Given the description of an element on the screen output the (x, y) to click on. 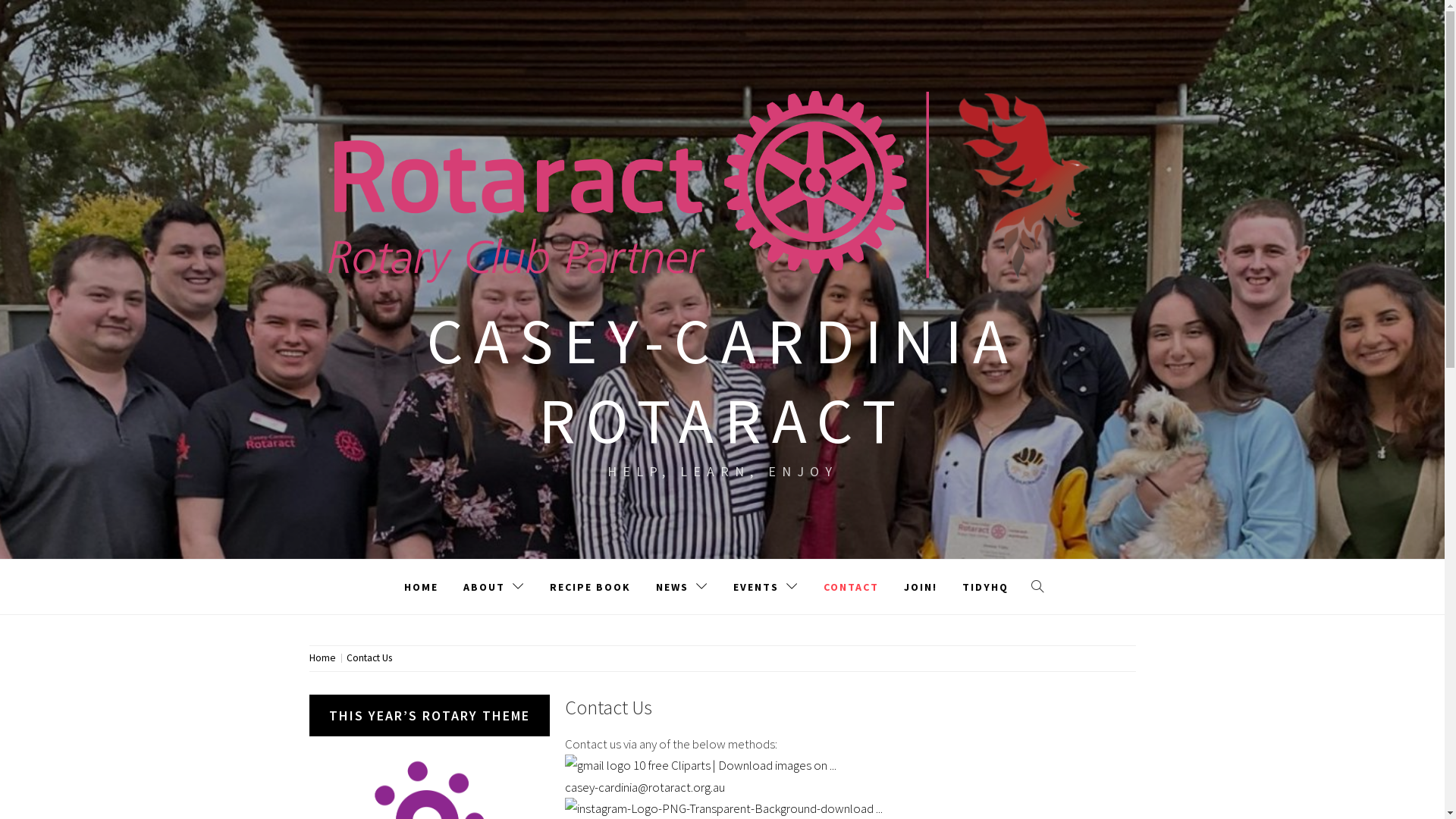
HOME Element type: text (420, 586)
EVENTS Element type: text (765, 586)
NEWS Element type: text (681, 586)
CONTACT Element type: text (850, 586)
Contact Us Element type: text (369, 657)
Home Element type: text (325, 657)
CASEY-CARDINIA ROTARACT Element type: text (721, 380)
casey-cardinia@rotaract.org.au Element type: text (699, 775)
Search Element type: text (645, 37)
RECIPE BOOK Element type: text (590, 586)
JOIN! Element type: text (919, 586)
ABOUT Element type: text (493, 586)
TIDYHQ Element type: text (984, 586)
